Given the description of an element on the screen output the (x, y) to click on. 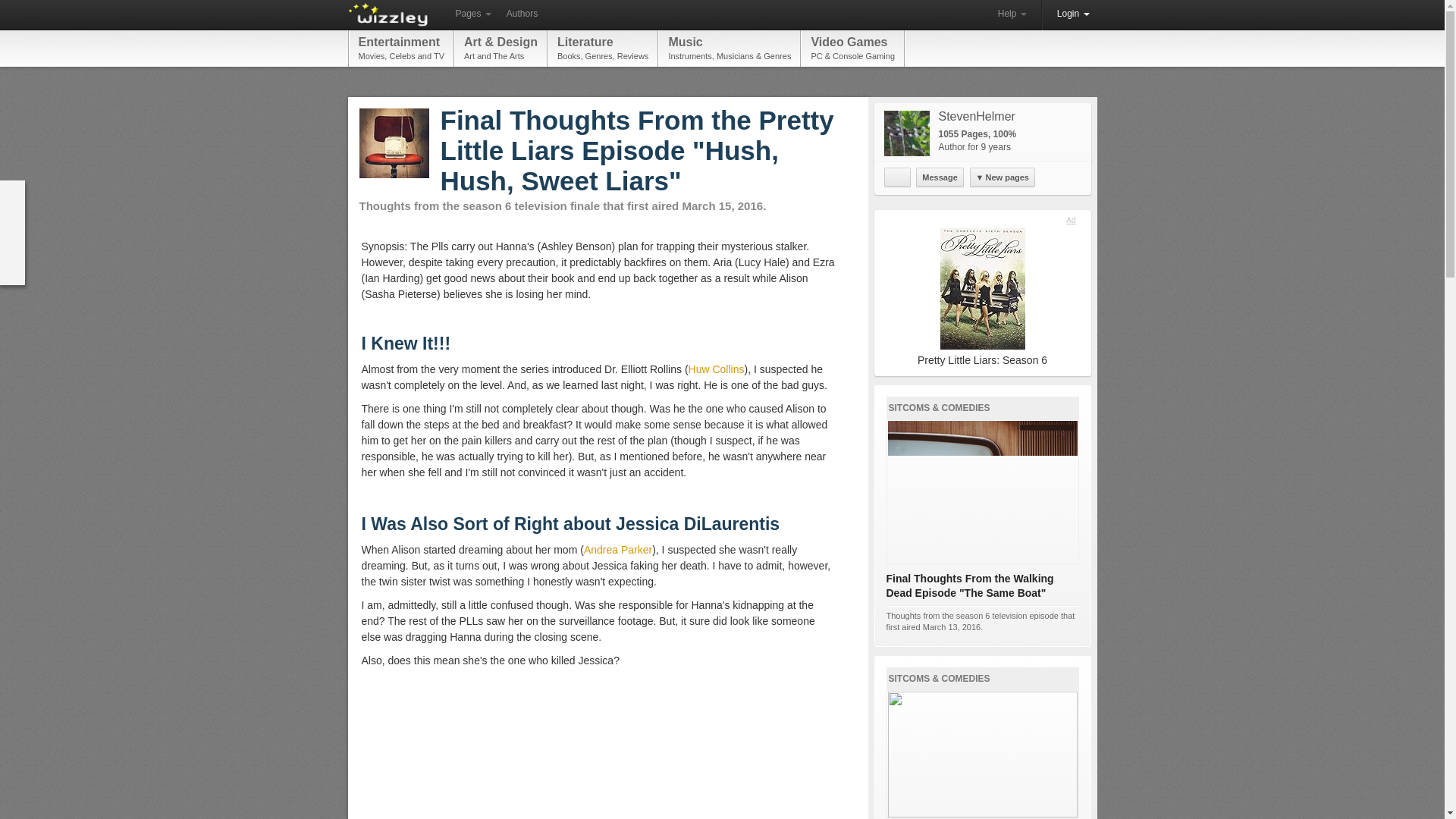
Login (1073, 14)
Pages (471, 14)
Huw Collins (602, 48)
Authors (716, 369)
Follow (521, 14)
Help (897, 177)
Andrea Parker (1011, 14)
